Given the description of an element on the screen output the (x, y) to click on. 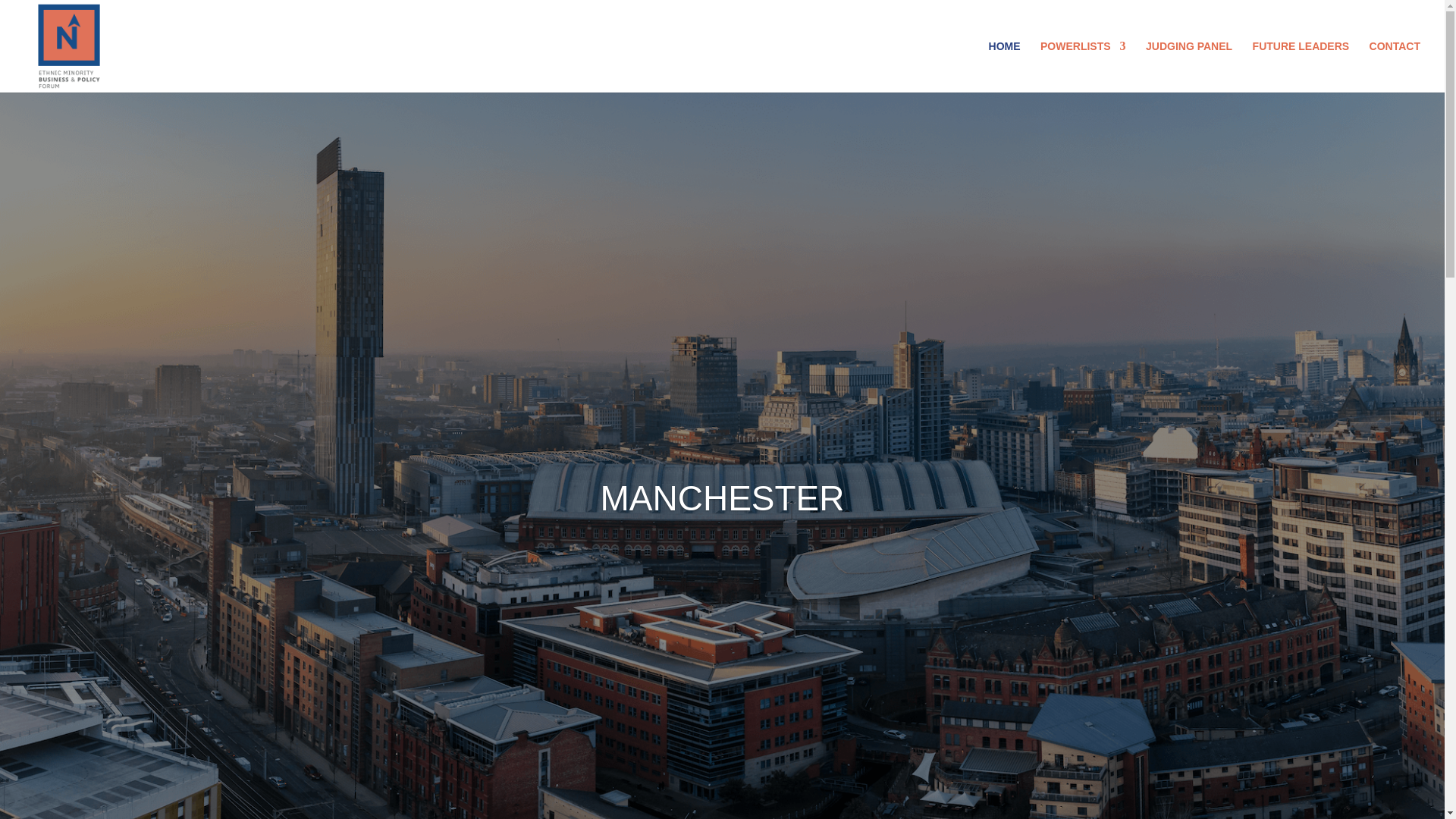
POWERLISTS (1083, 66)
CONTACT (1395, 66)
FUTURE LEADERS (1300, 66)
JUDGING PANEL (1188, 66)
